Given the description of an element on the screen output the (x, y) to click on. 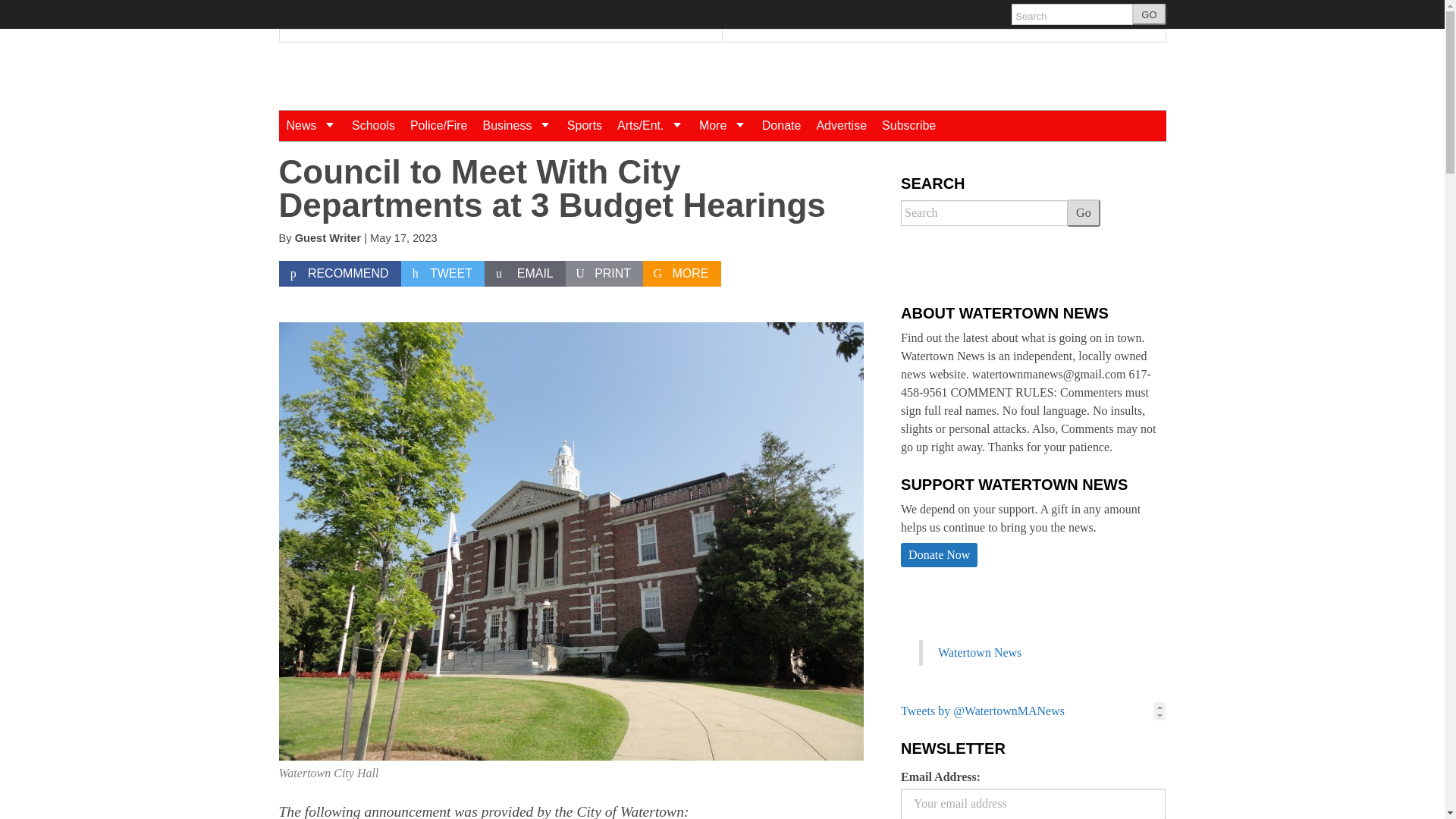
Read All Posts By Guest Writer (328, 237)
GO (1149, 14)
Business (516, 125)
Print this article (604, 273)
Schools (373, 125)
Sports (584, 125)
News (311, 125)
